Given the description of an element on the screen output the (x, y) to click on. 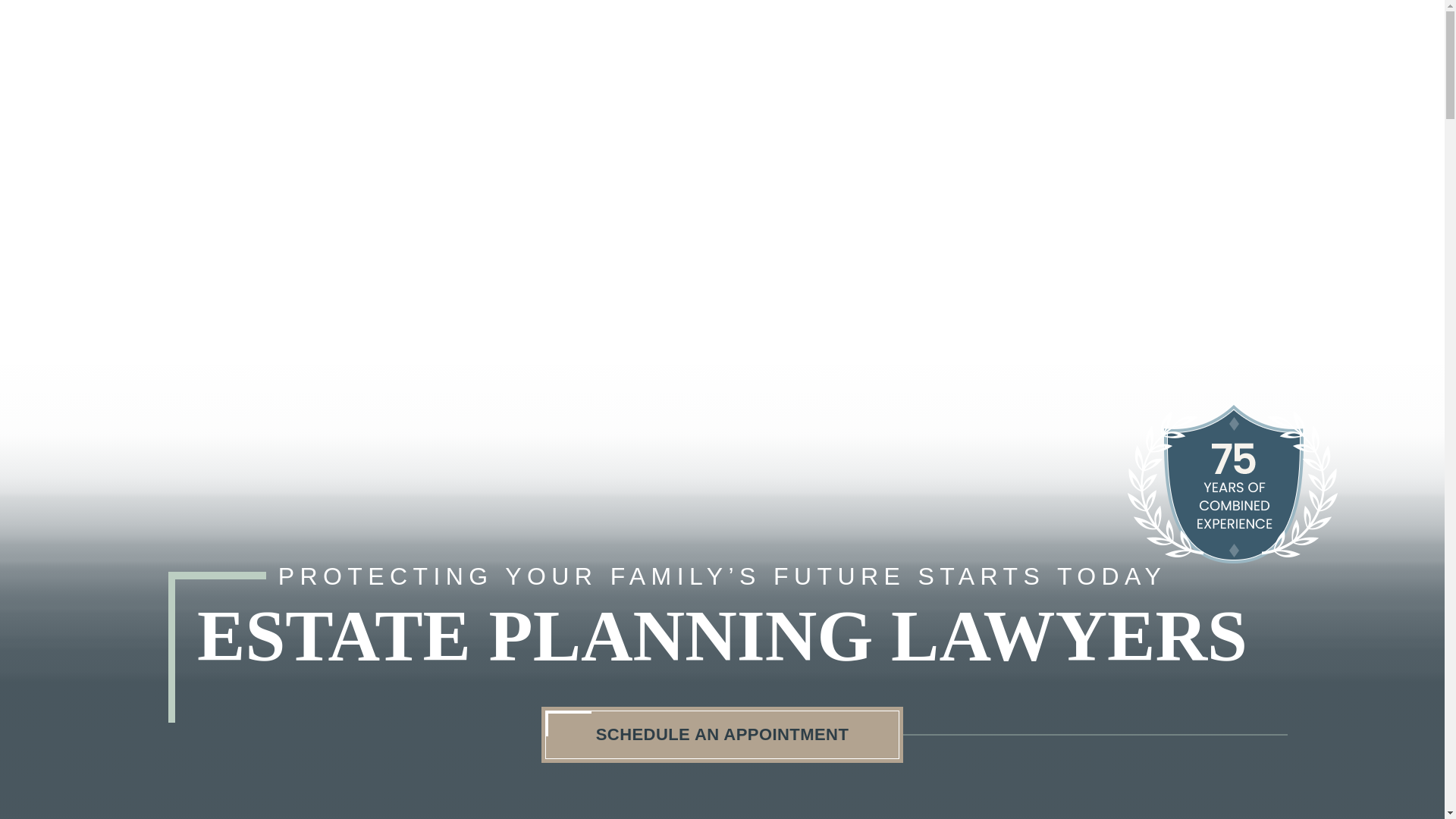
Videos (926, 51)
Practice Areas (673, 51)
Contact (1040, 51)
Journal (814, 51)
About (538, 51)
704-556-9600 (1281, 58)
